Given the description of an element on the screen output the (x, y) to click on. 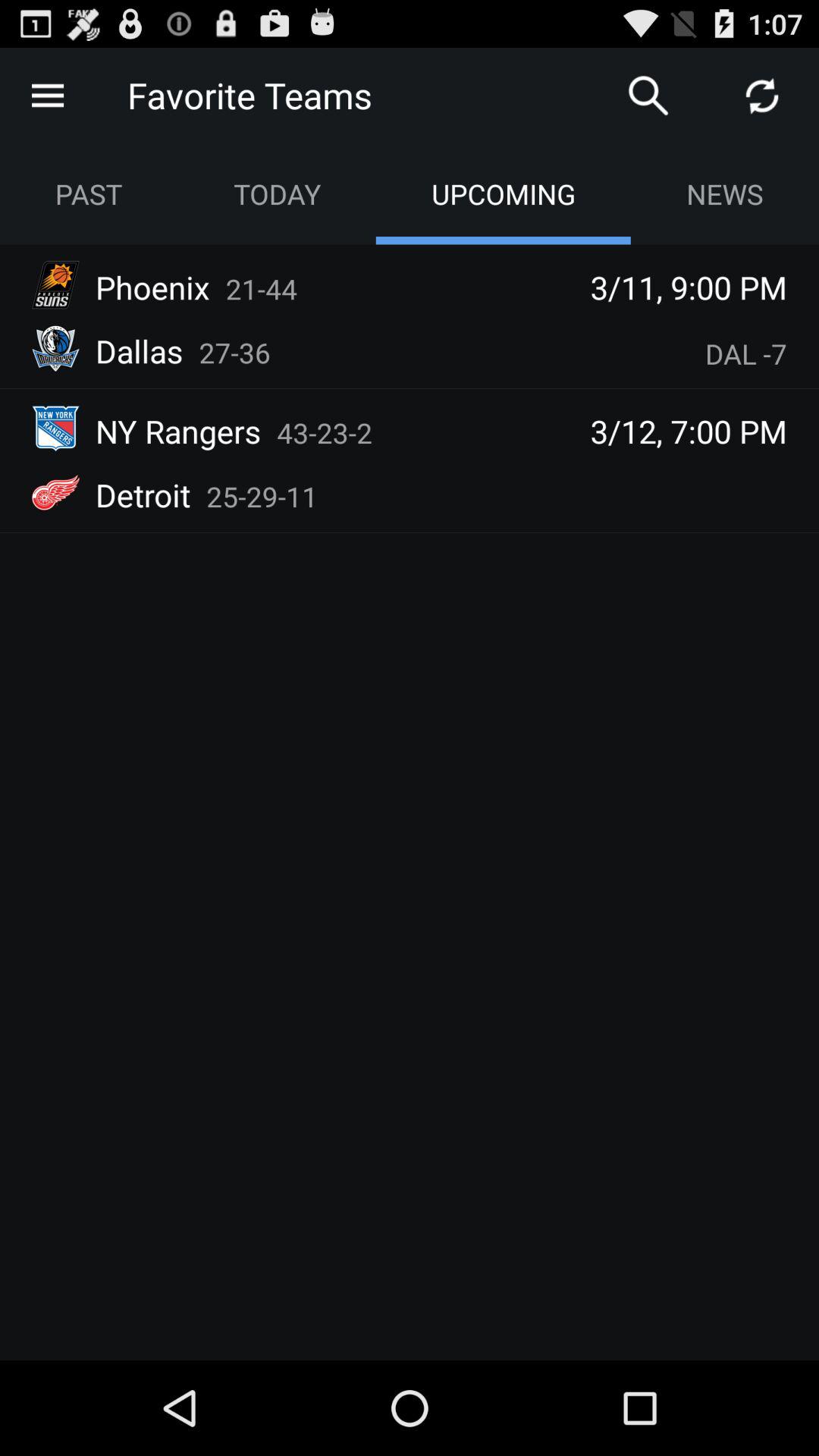
search button (648, 95)
